Given the description of an element on the screen output the (x, y) to click on. 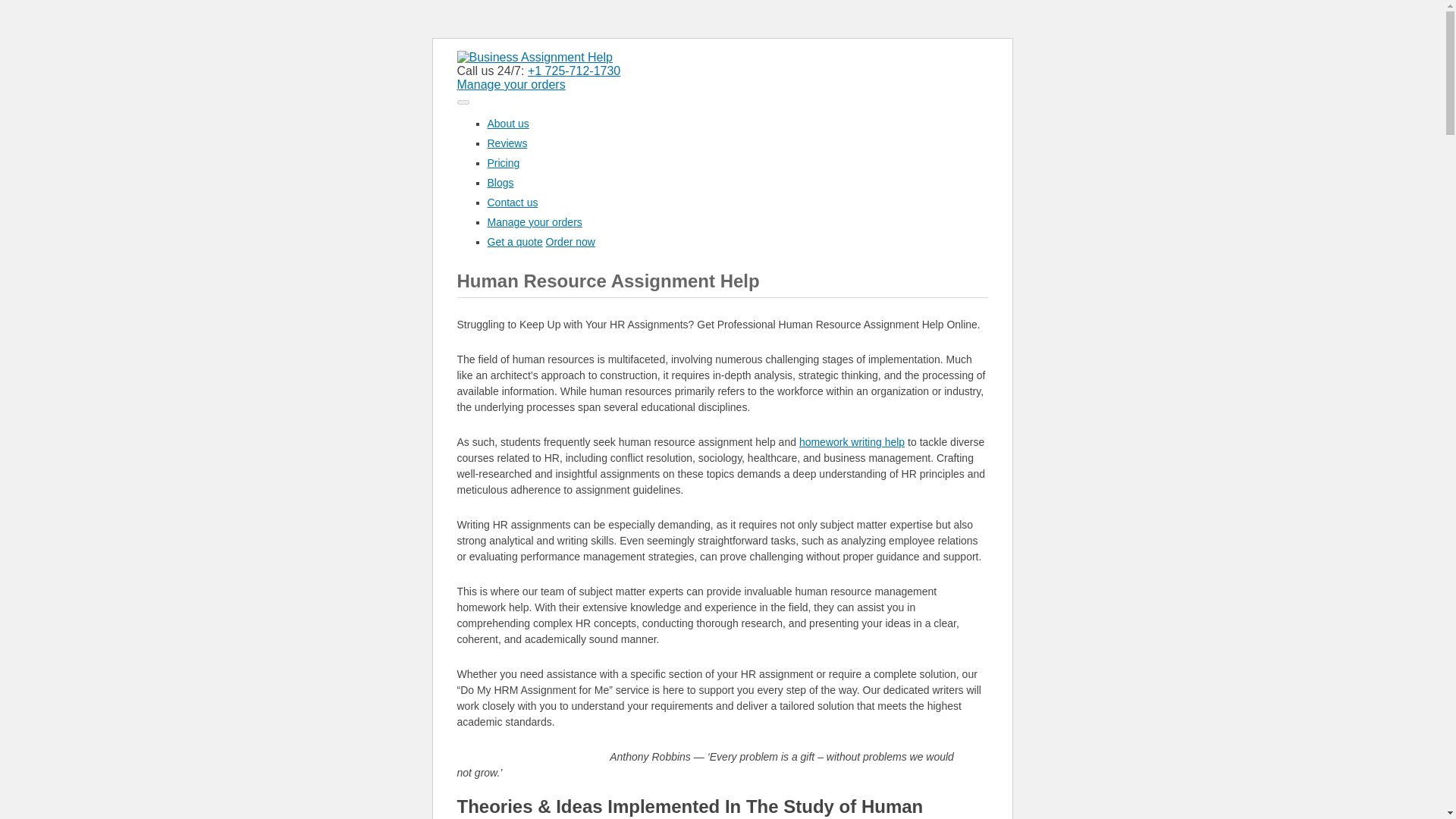
Reviews (506, 143)
Contact us (511, 202)
Manage your orders (510, 83)
About us (507, 123)
Get a quote (513, 241)
Blogs (499, 182)
Pricing (502, 162)
